Given the description of an element on the screen output the (x, y) to click on. 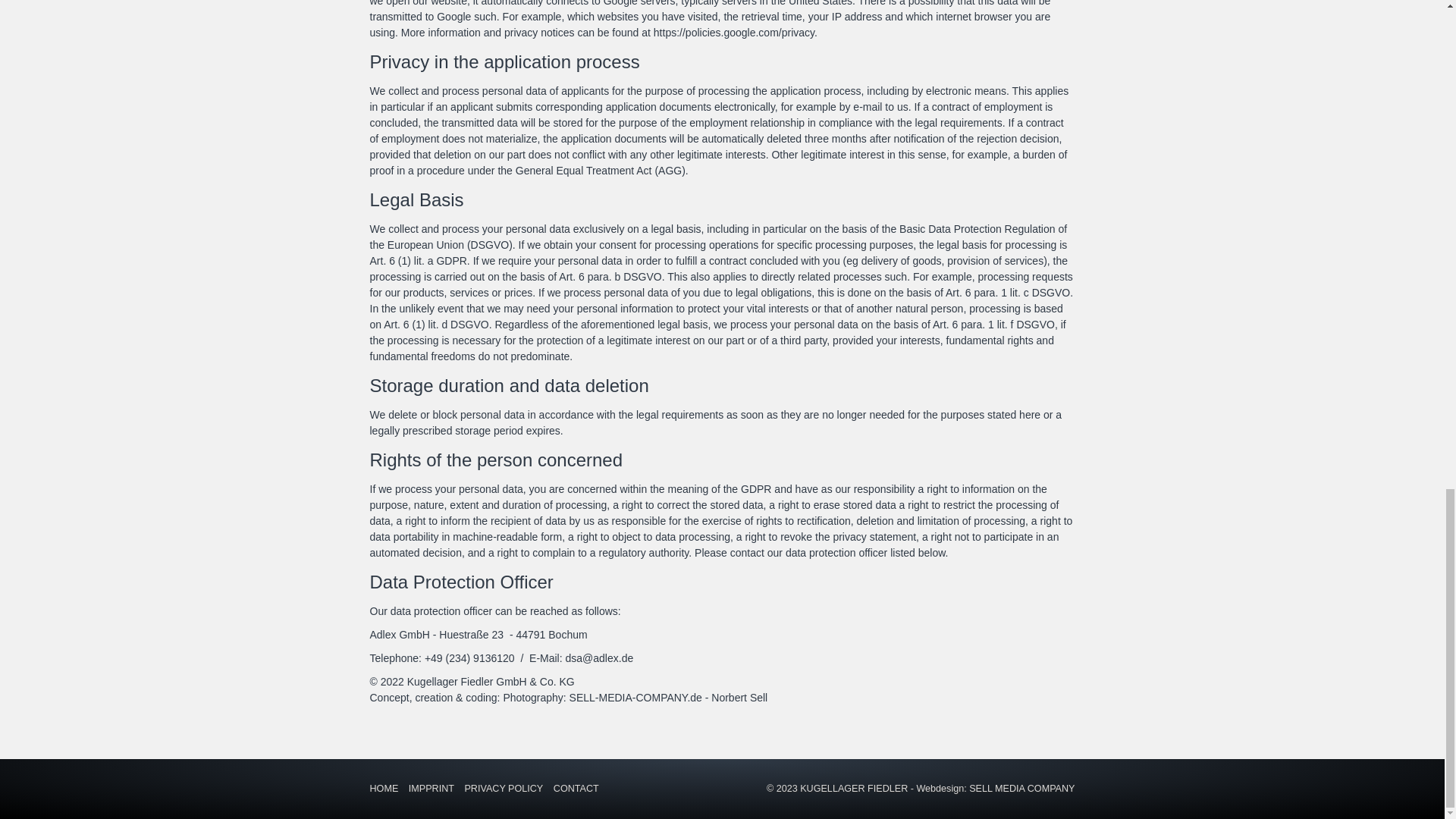
HOME (387, 789)
PRIVACY POLICY (507, 789)
IMPPRINT (435, 789)
CONTACT (580, 789)
